Given the description of an element on the screen output the (x, y) to click on. 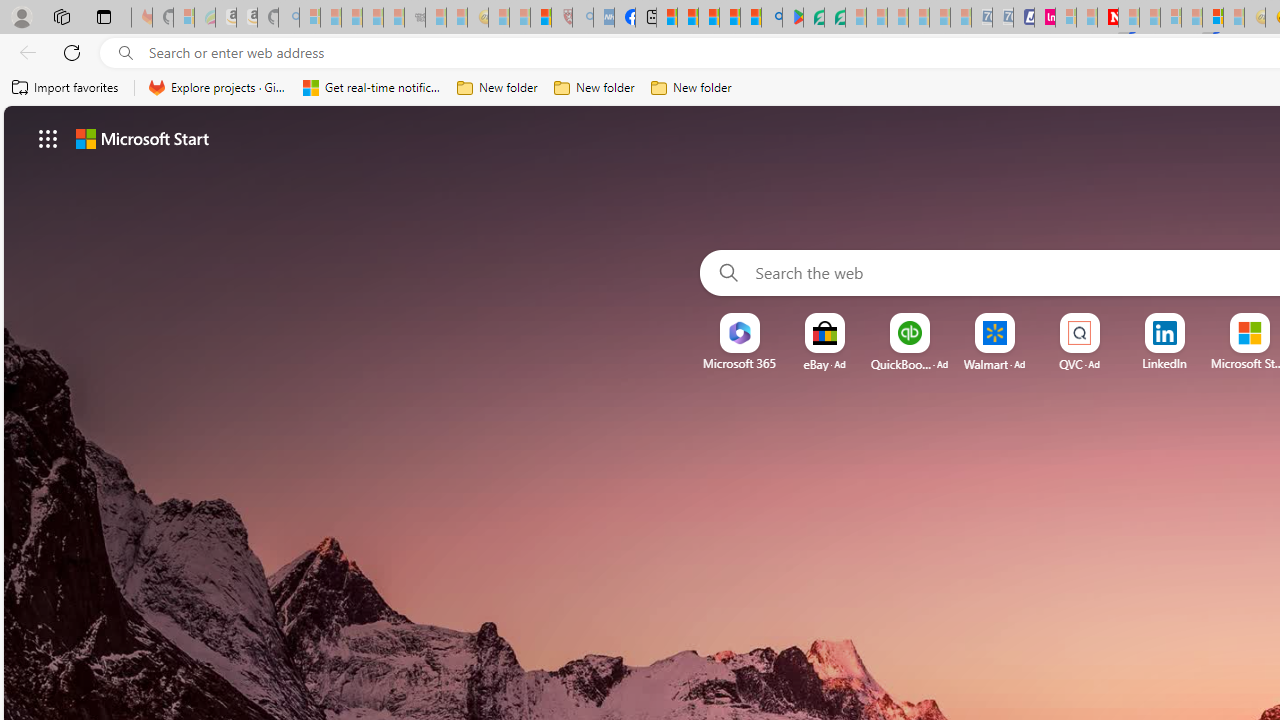
Latest Politics News & Archive | Newsweek.com (1107, 17)
Bluey: Let's Play! - Apps on Google Play (792, 17)
Cheap Hotels - Save70.com - Sleeping (1002, 17)
